Given the description of an element on the screen output the (x, y) to click on. 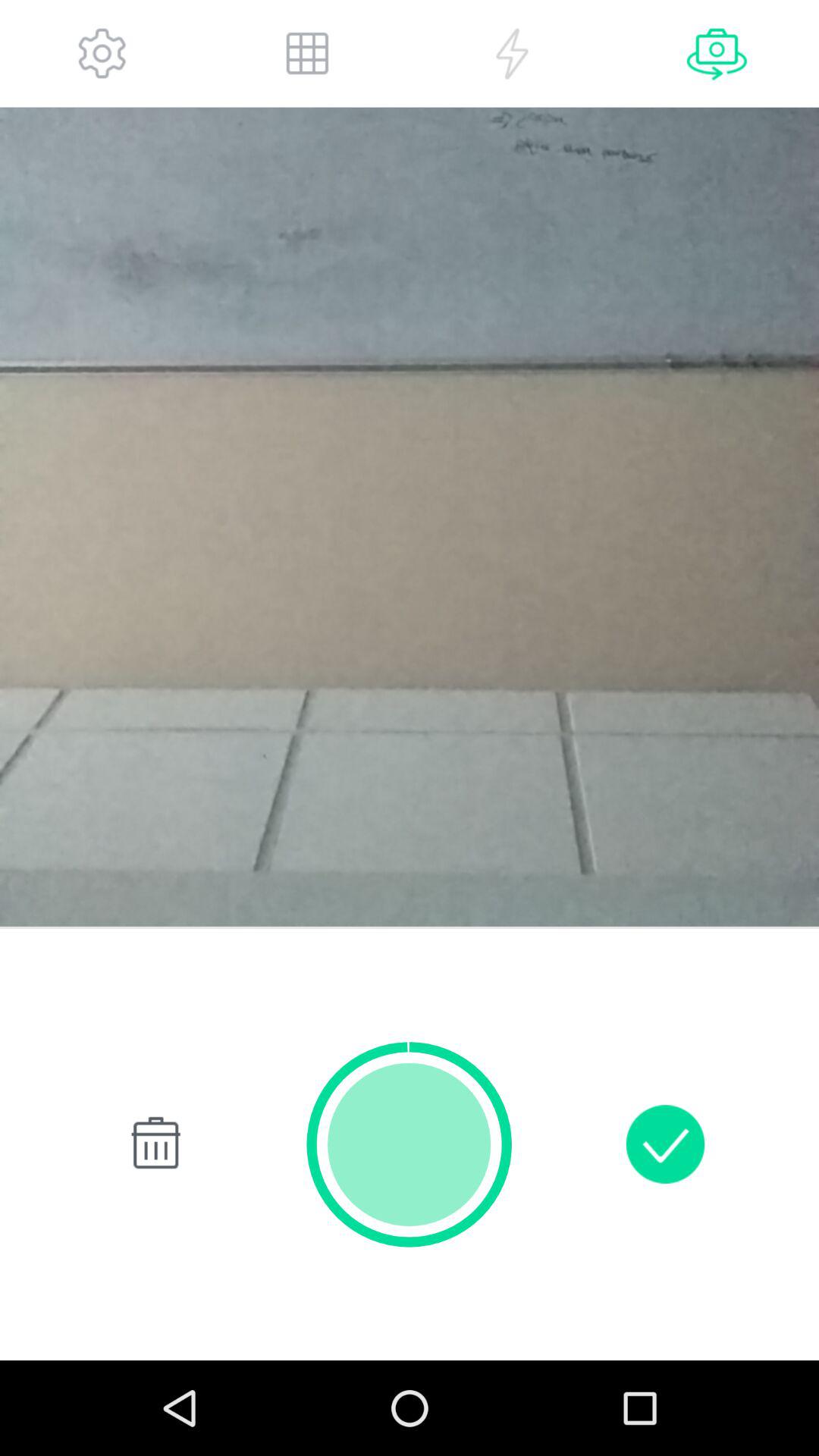
settings (102, 53)
